Given the description of an element on the screen output the (x, y) to click on. 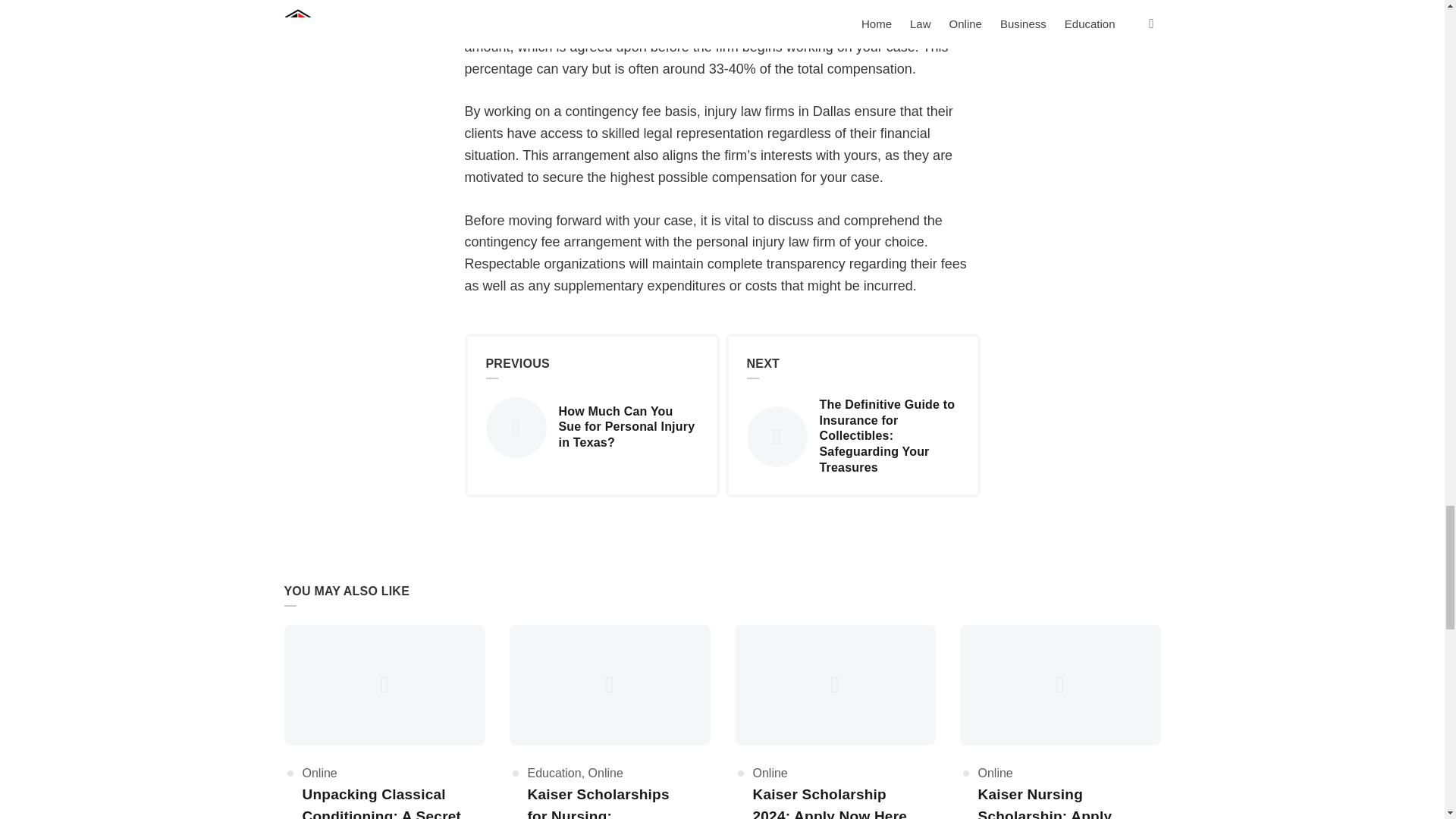
How Much Can You Sue for Personal Injury in Texas? (590, 427)
Online (605, 772)
Education (553, 772)
Online (318, 772)
Online (995, 772)
Online (769, 772)
